Given the description of an element on the screen output the (x, y) to click on. 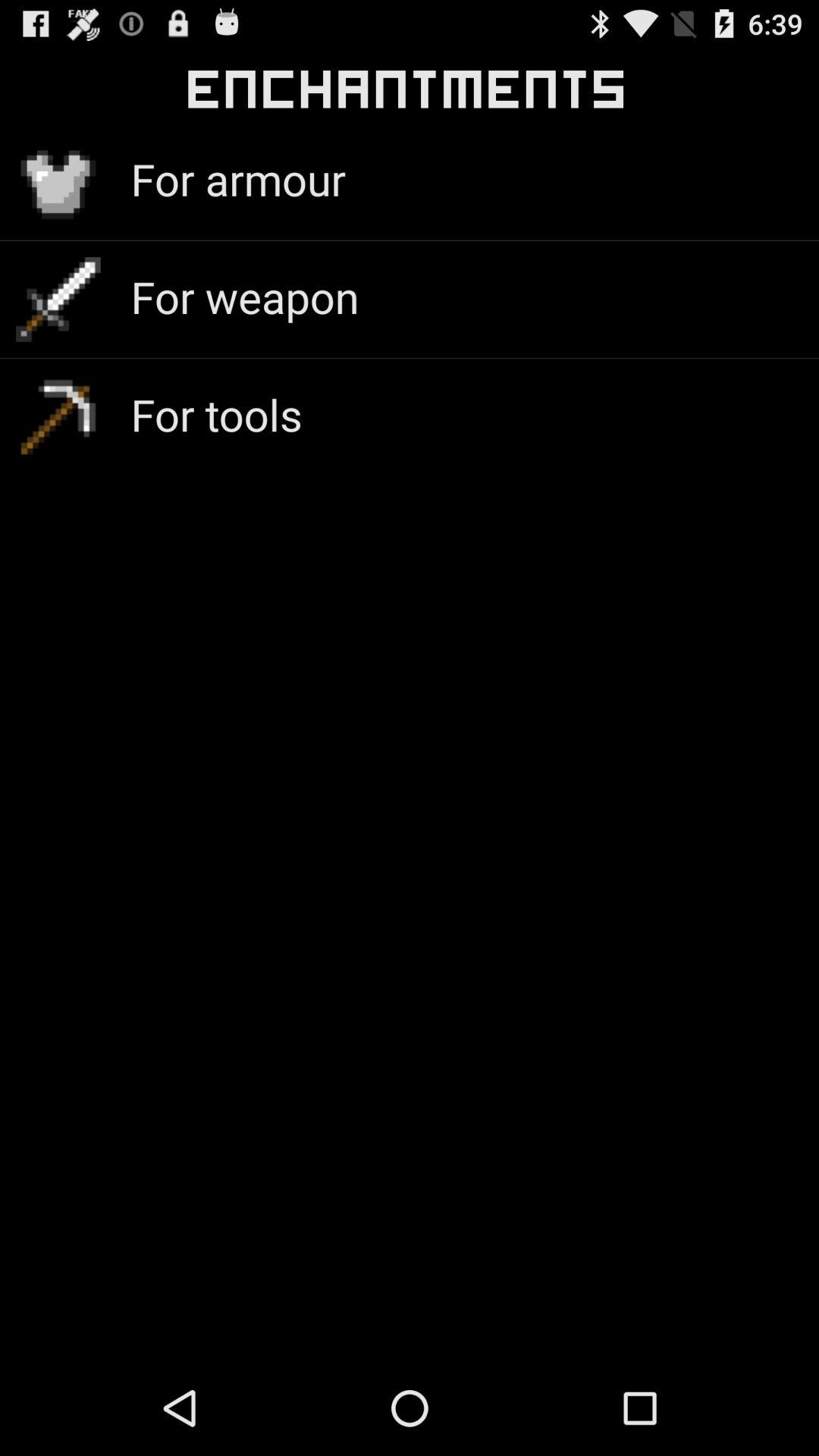
jump until the for armour icon (237, 178)
